Given the description of an element on the screen output the (x, y) to click on. 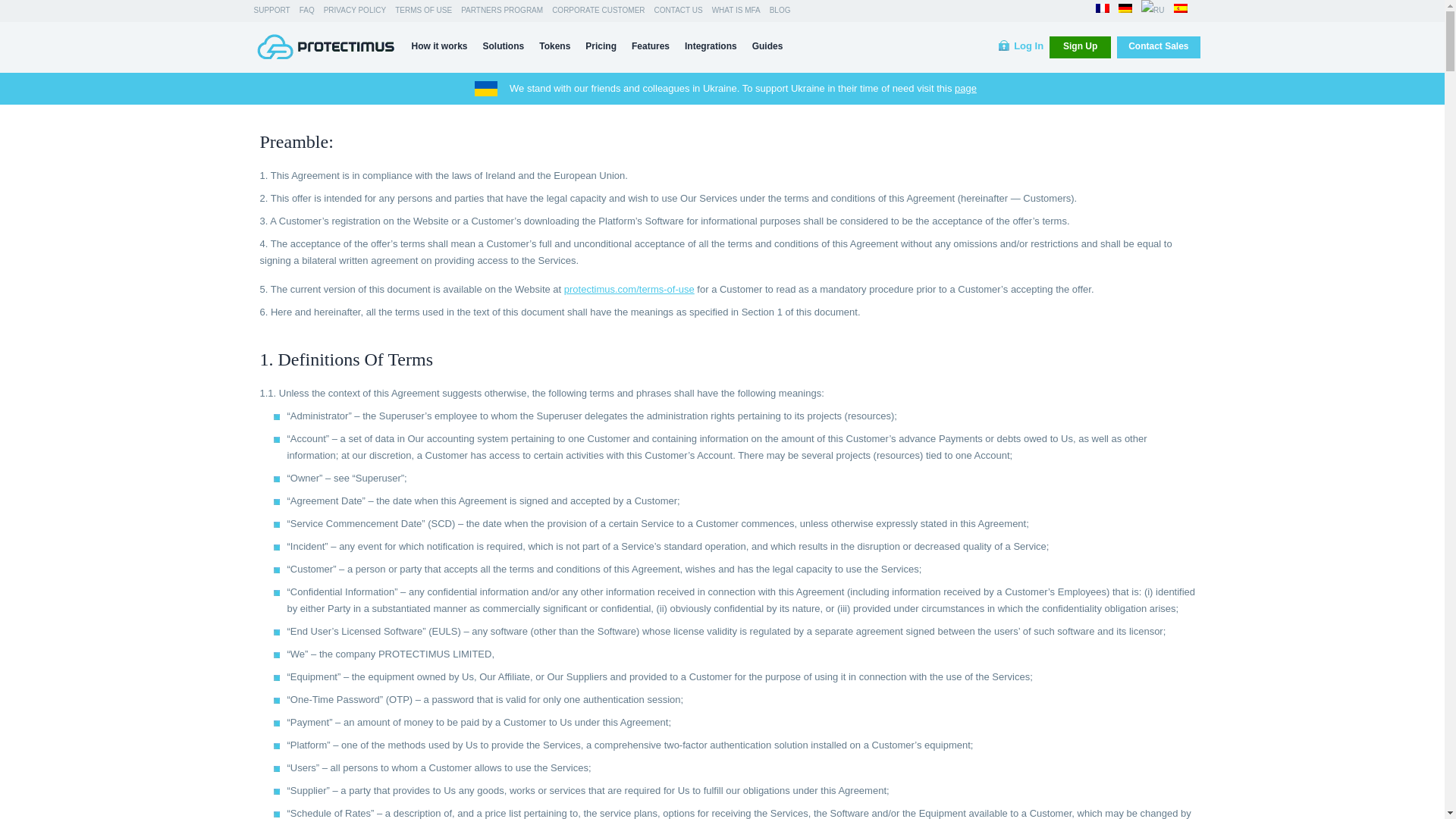
CONTACT US (678, 9)
Tokens (554, 47)
Solutions (503, 47)
FAQ (306, 9)
How it works (438, 47)
SUPPORT (271, 9)
WHAT IS MFA (735, 9)
PARTNERS PROGRAM (502, 9)
BLOG (780, 9)
CORPORATE CUSTOMER (598, 9)
